Given the description of an element on the screen output the (x, y) to click on. 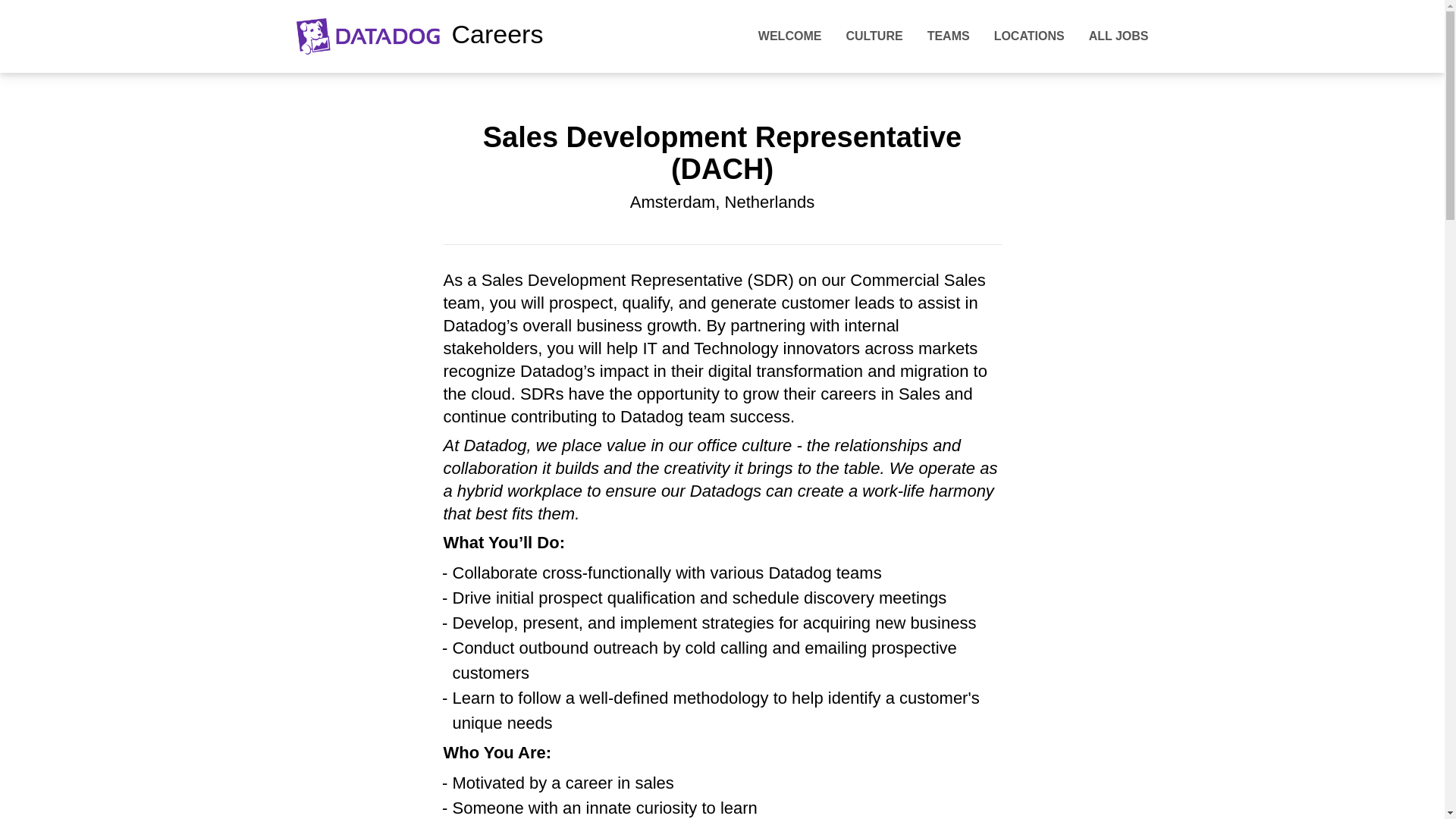
Careers (419, 36)
ALL JOBS (1118, 35)
WELCOME (790, 35)
